Given the description of an element on the screen output the (x, y) to click on. 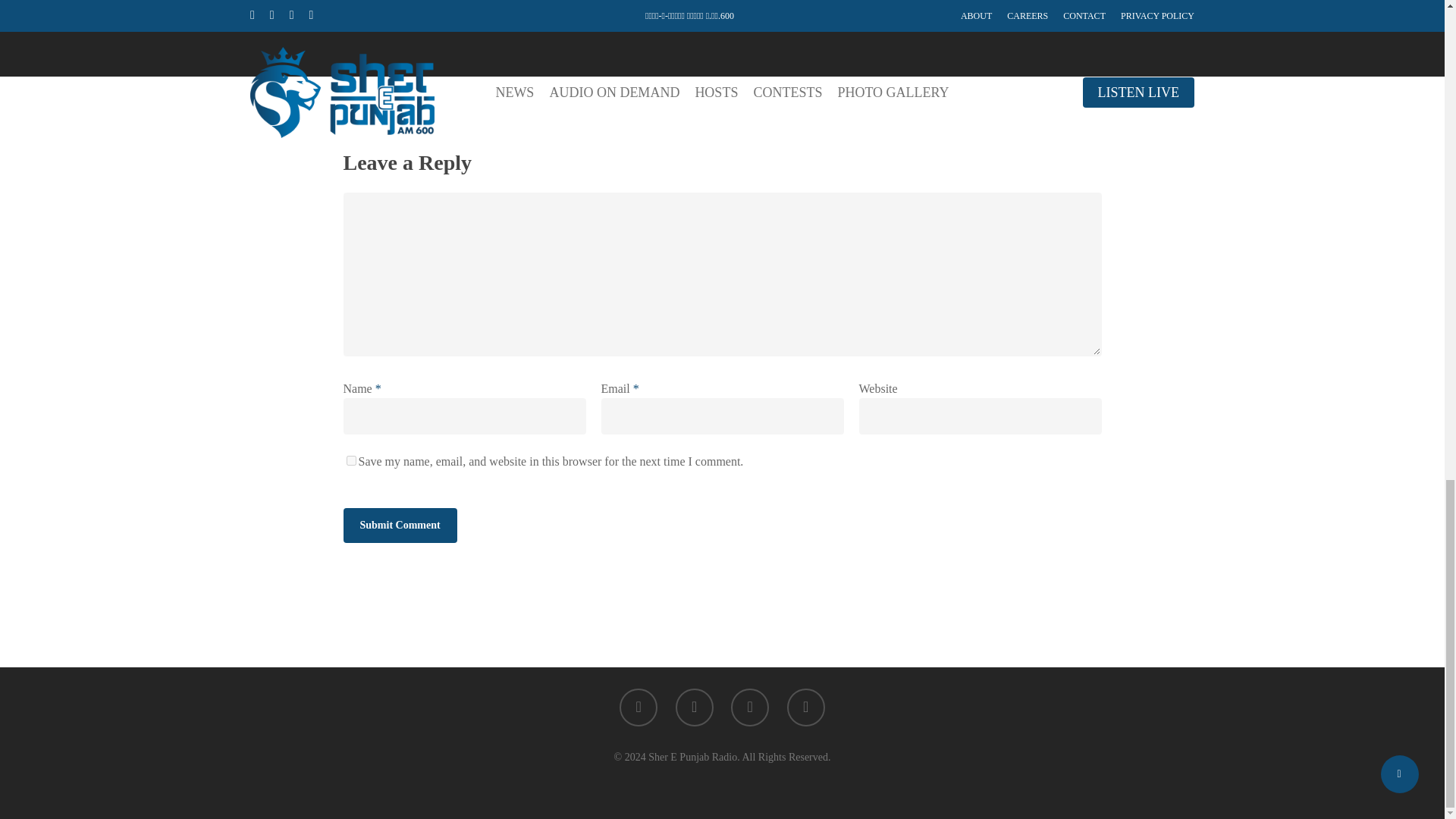
Submit Comment (399, 524)
Submit Comment (399, 524)
yes (350, 460)
